Given the description of an element on the screen output the (x, y) to click on. 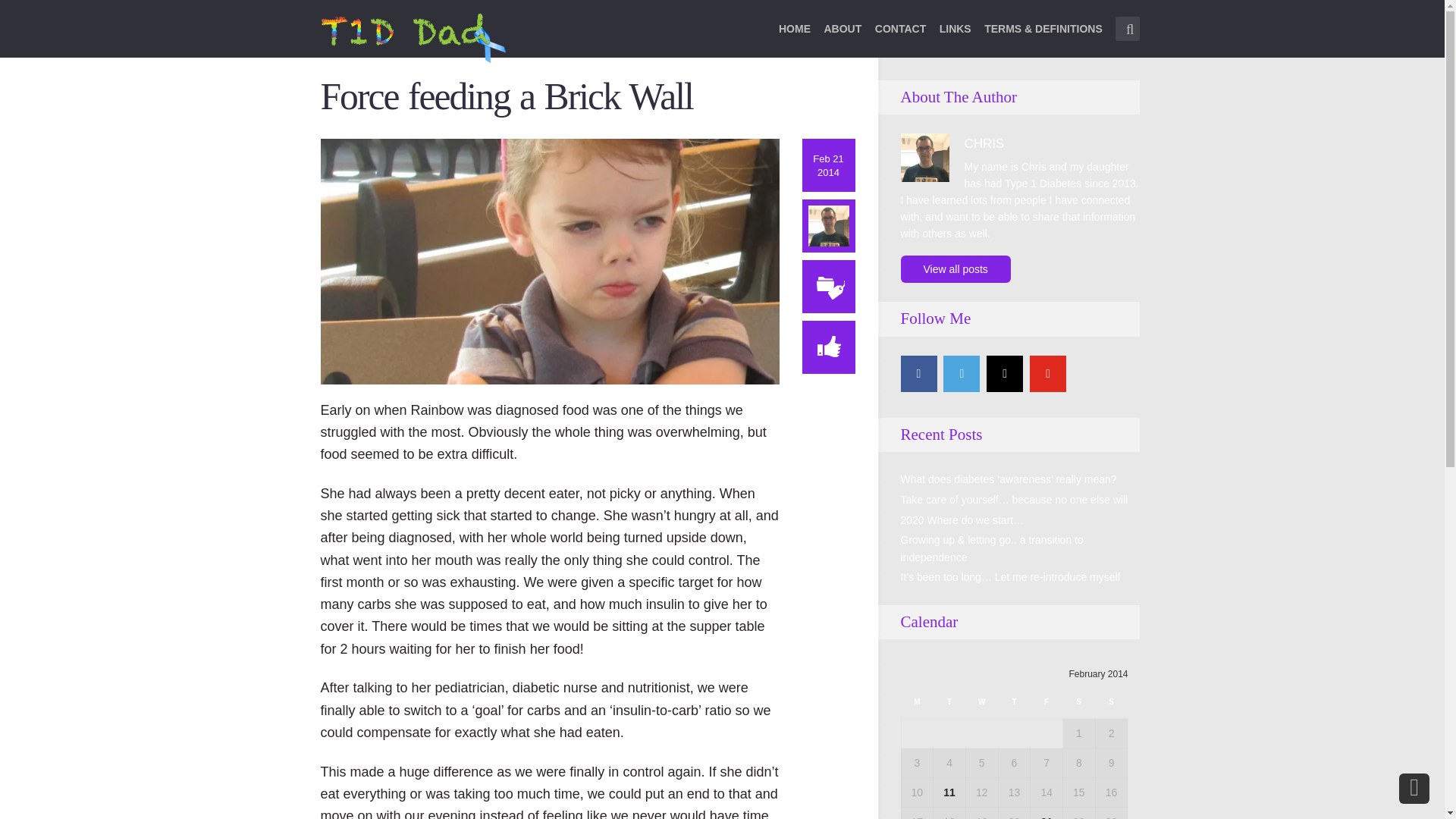
CHRIS (983, 143)
YouTube (1047, 373)
Facebook (919, 373)
Type here to search... (1126, 28)
Instagram (1005, 373)
Monday (917, 706)
Force feeding a Brick Wall (549, 259)
ABOUT (842, 37)
Tuesday (949, 706)
21 (1046, 817)
